Given the description of an element on the screen output the (x, y) to click on. 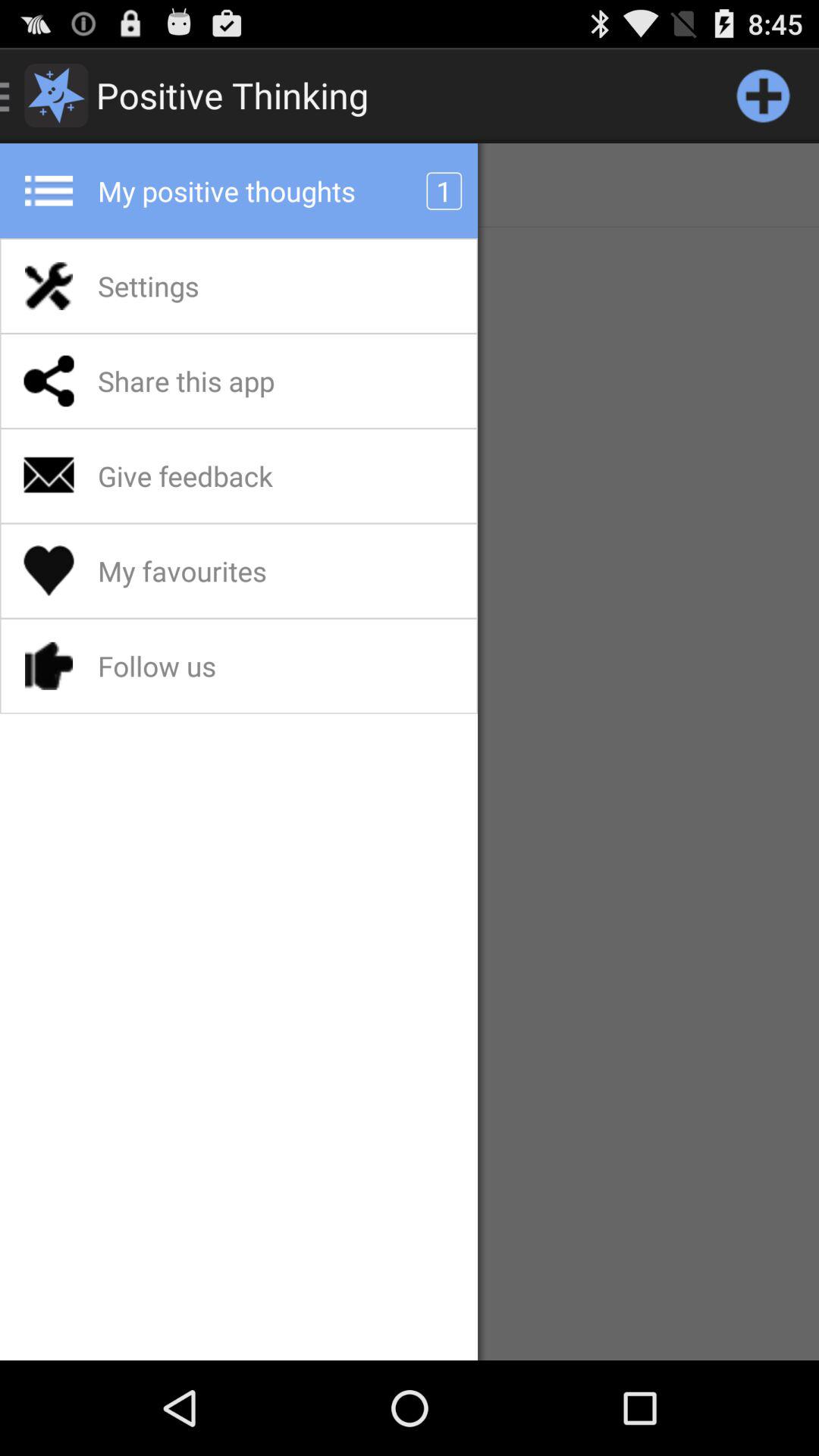
open new quote (763, 95)
